Given the description of an element on the screen output the (x, y) to click on. 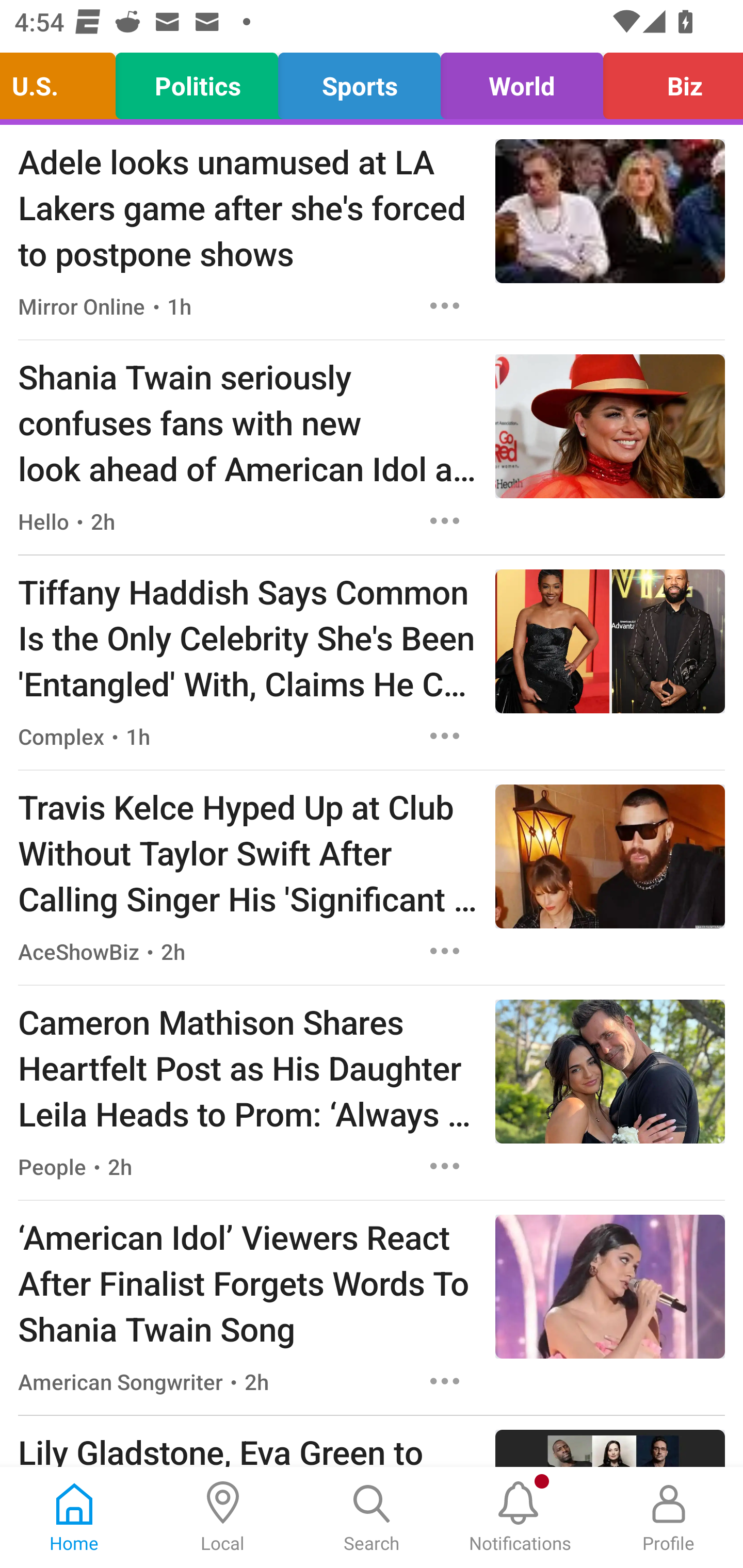
U.S. (63, 81)
Politics (196, 81)
Sports (359, 81)
World (521, 81)
Biz (667, 81)
Options (444, 305)
Options (444, 520)
Options (444, 736)
Options (444, 950)
Options (444, 1166)
Options (444, 1381)
Local (222, 1517)
Search (371, 1517)
Notifications, New notification Notifications (519, 1517)
Profile (668, 1517)
